Given the description of an element on the screen output the (x, y) to click on. 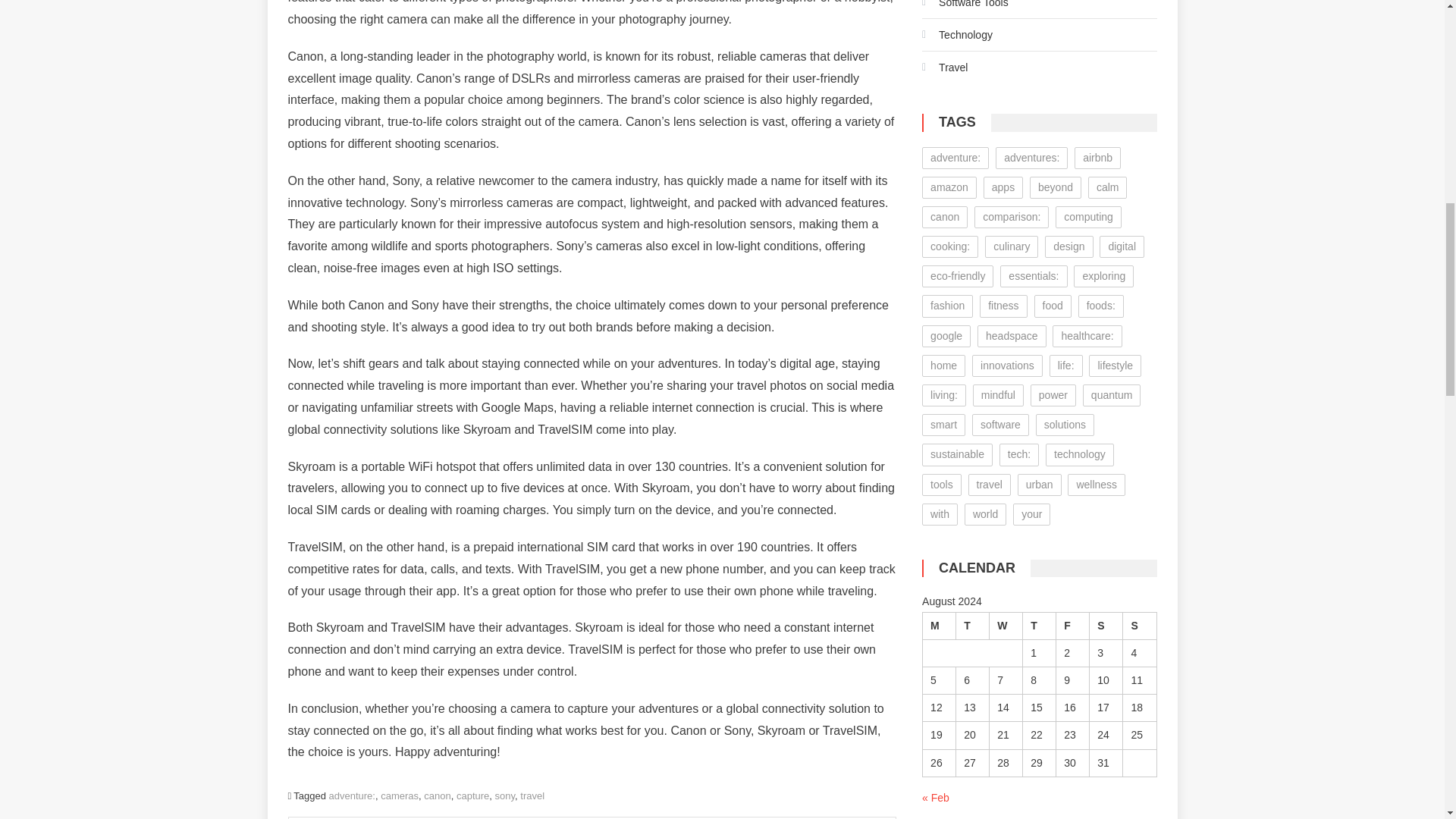
Thursday (1040, 625)
Sunday (1139, 625)
Saturday (1105, 625)
Tuesday (973, 625)
Monday (939, 625)
sony (505, 795)
canon (436, 795)
capture (473, 795)
travel (531, 795)
Friday (1073, 625)
